Given the description of an element on the screen output the (x, y) to click on. 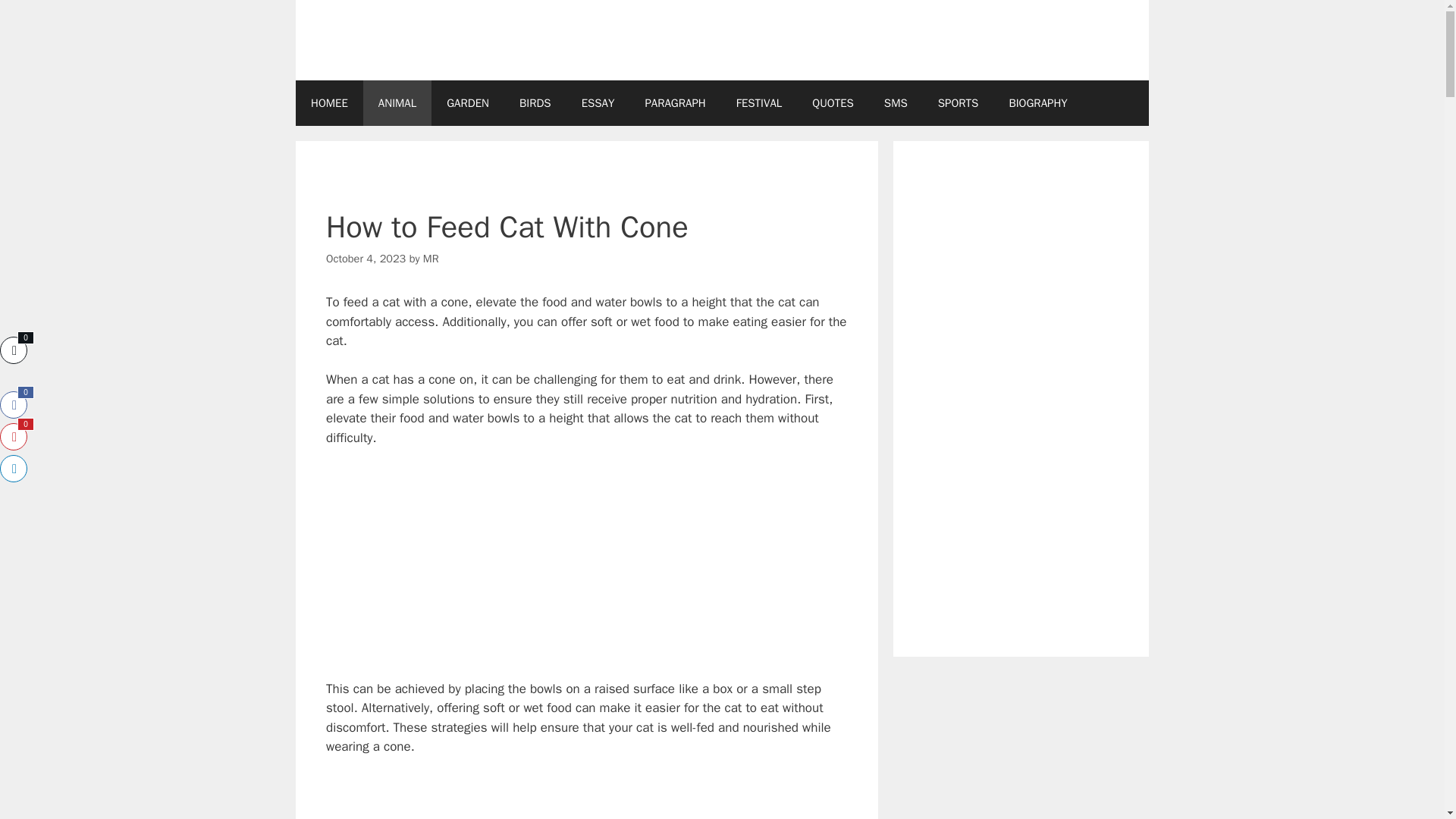
MR (431, 258)
View all posts by MR (431, 258)
GARDEN (466, 103)
ESSAY (598, 103)
QUOTES (832, 103)
SMS (896, 103)
ANIMAL (396, 103)
FESTIVAL (758, 103)
BIOGRAPHY (1036, 103)
SPORTS (958, 103)
